Given the description of an element on the screen output the (x, y) to click on. 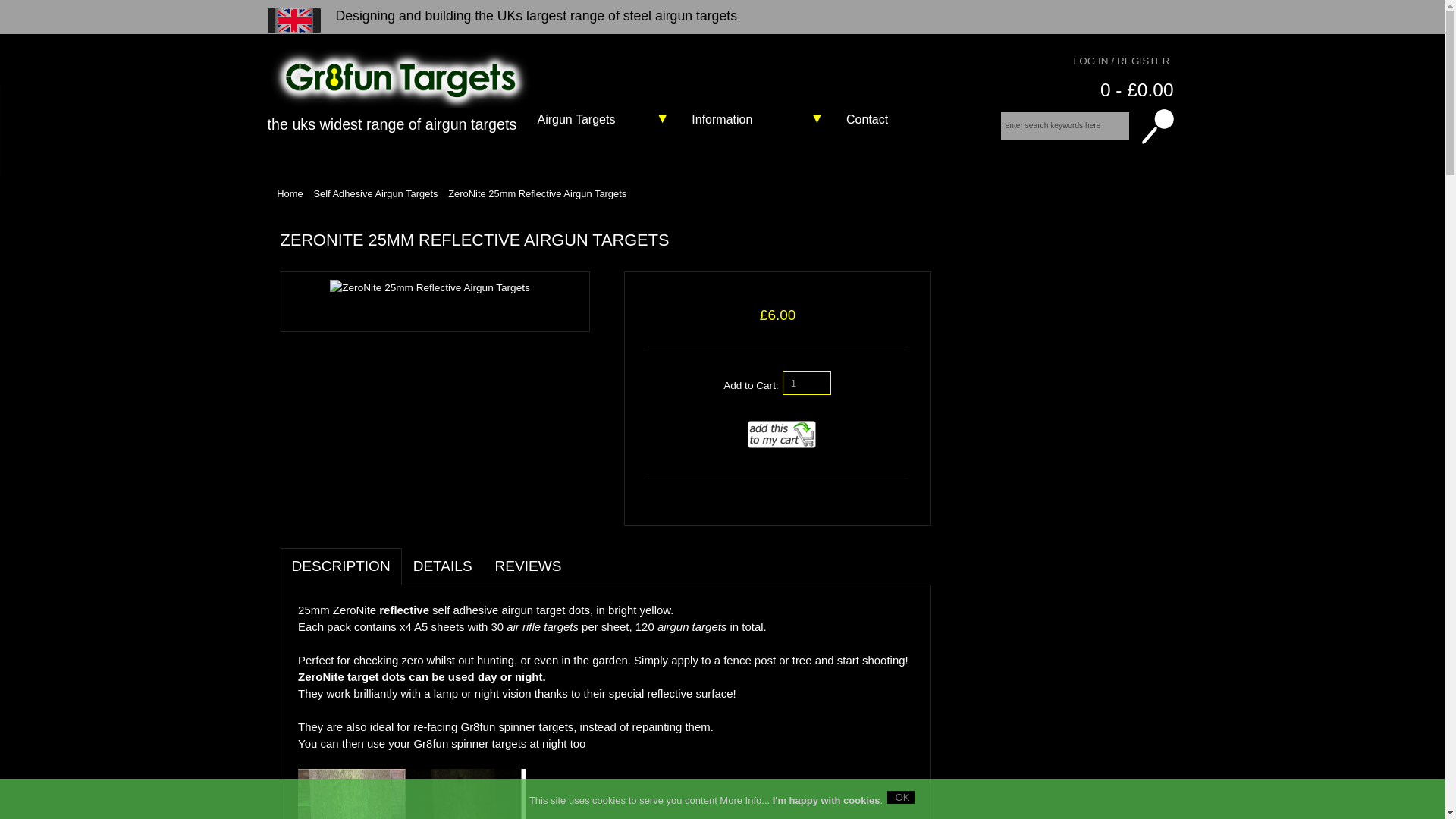
Enter search keywords here (1065, 125)
 go  (1154, 125)
Information (755, 119)
 Add to Cart  (777, 433)
Enter search keywords here (1065, 125)
 ZeroNite 25mm Reflective Airgun Targets  (429, 288)
Airgun Targets (600, 119)
1 (807, 382)
OK (900, 797)
 Gr8fun Targets, the best airgun targets in the UK  (403, 78)
